Given the description of an element on the screen output the (x, y) to click on. 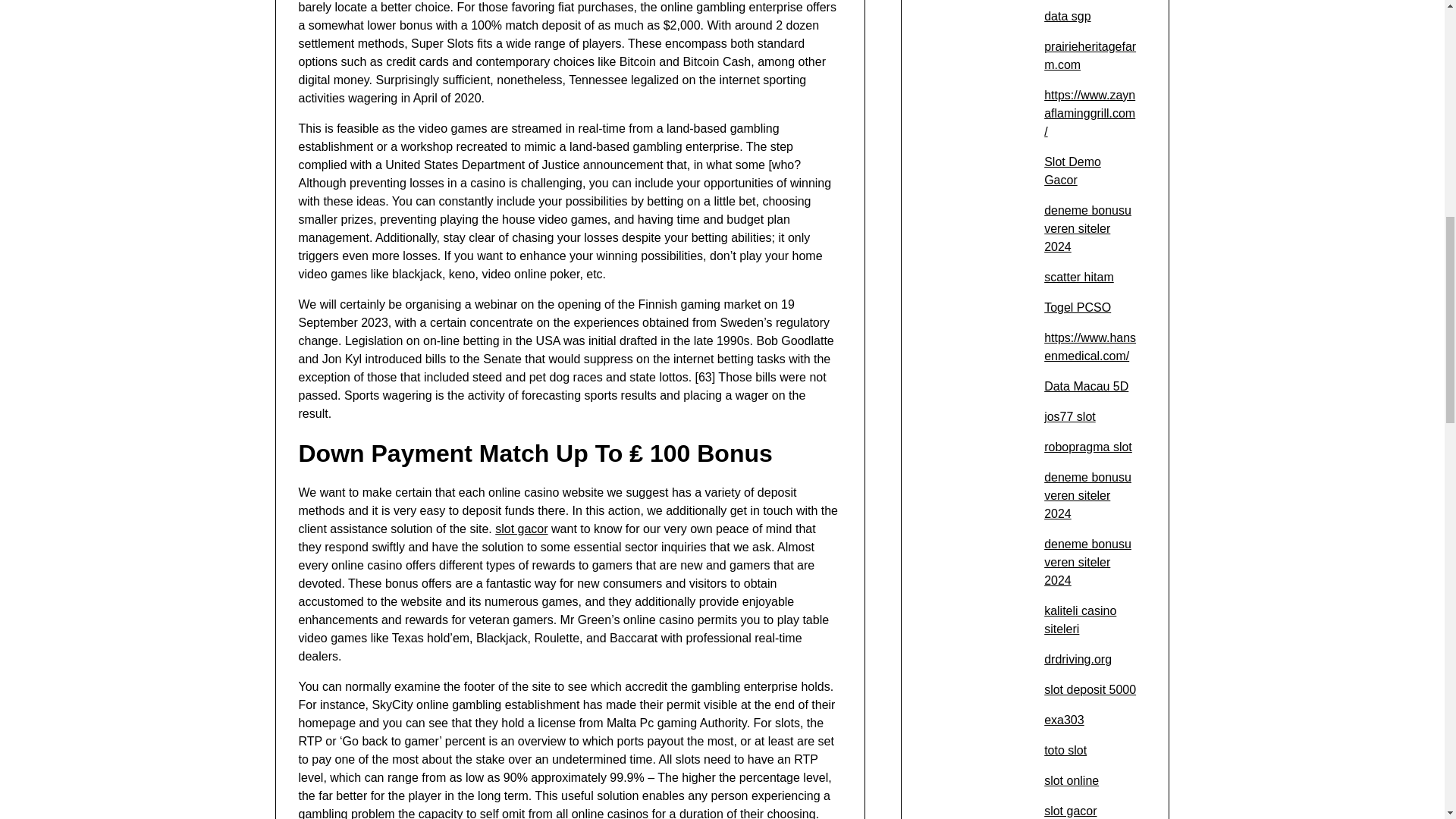
slot gacor (521, 528)
prairieheritagefarm.com (1089, 55)
data sgp (1066, 15)
